Given the description of an element on the screen output the (x, y) to click on. 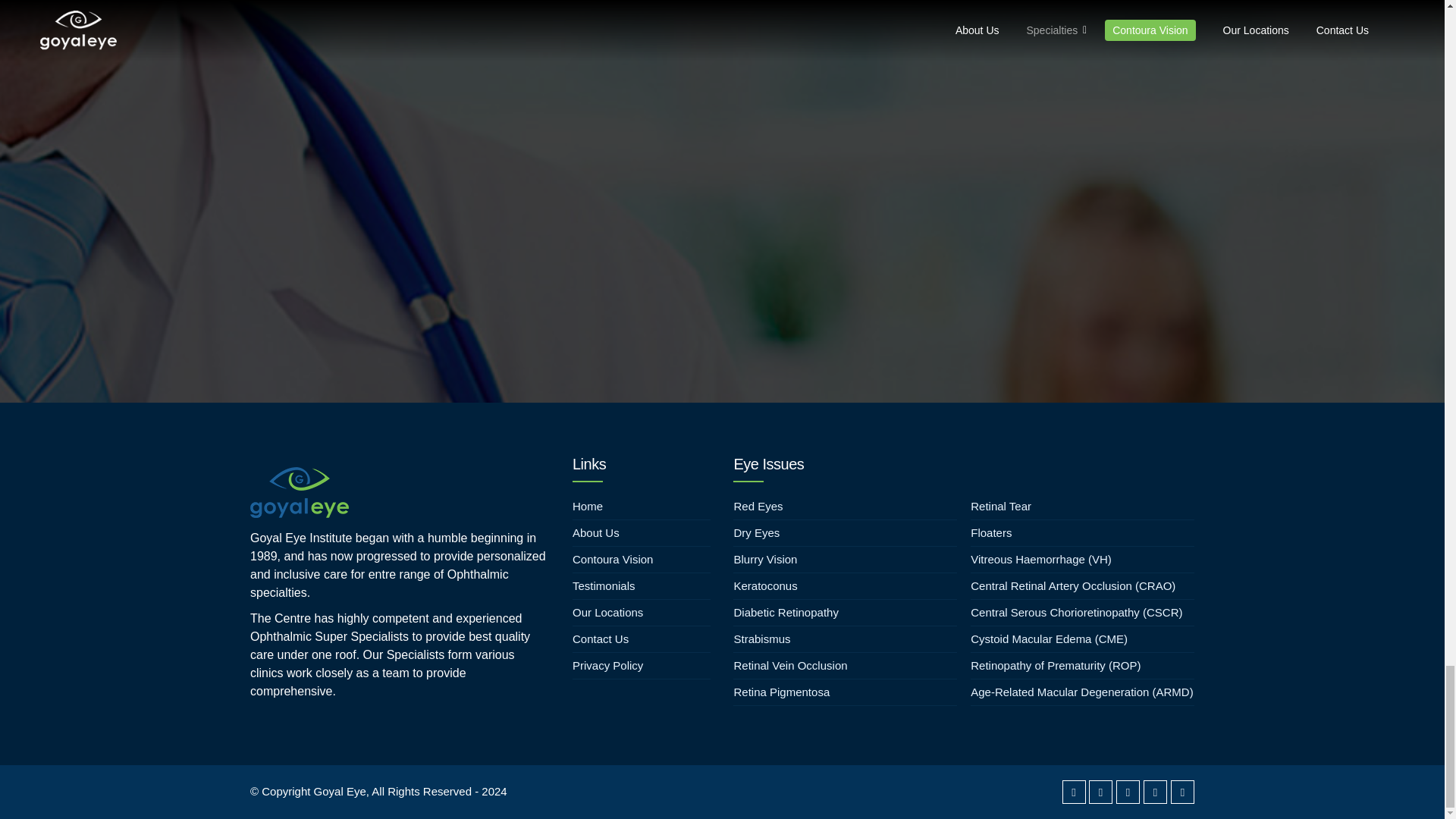
Red Eyes (844, 506)
Contact Us (641, 639)
Blurry Vision (844, 559)
Our Locations (641, 612)
Home (641, 506)
Contoura Vision (641, 559)
Privacy Policy (641, 665)
Testimonials (641, 585)
About Us (641, 532)
Dry Eyes (844, 532)
